Given the description of an element on the screen output the (x, y) to click on. 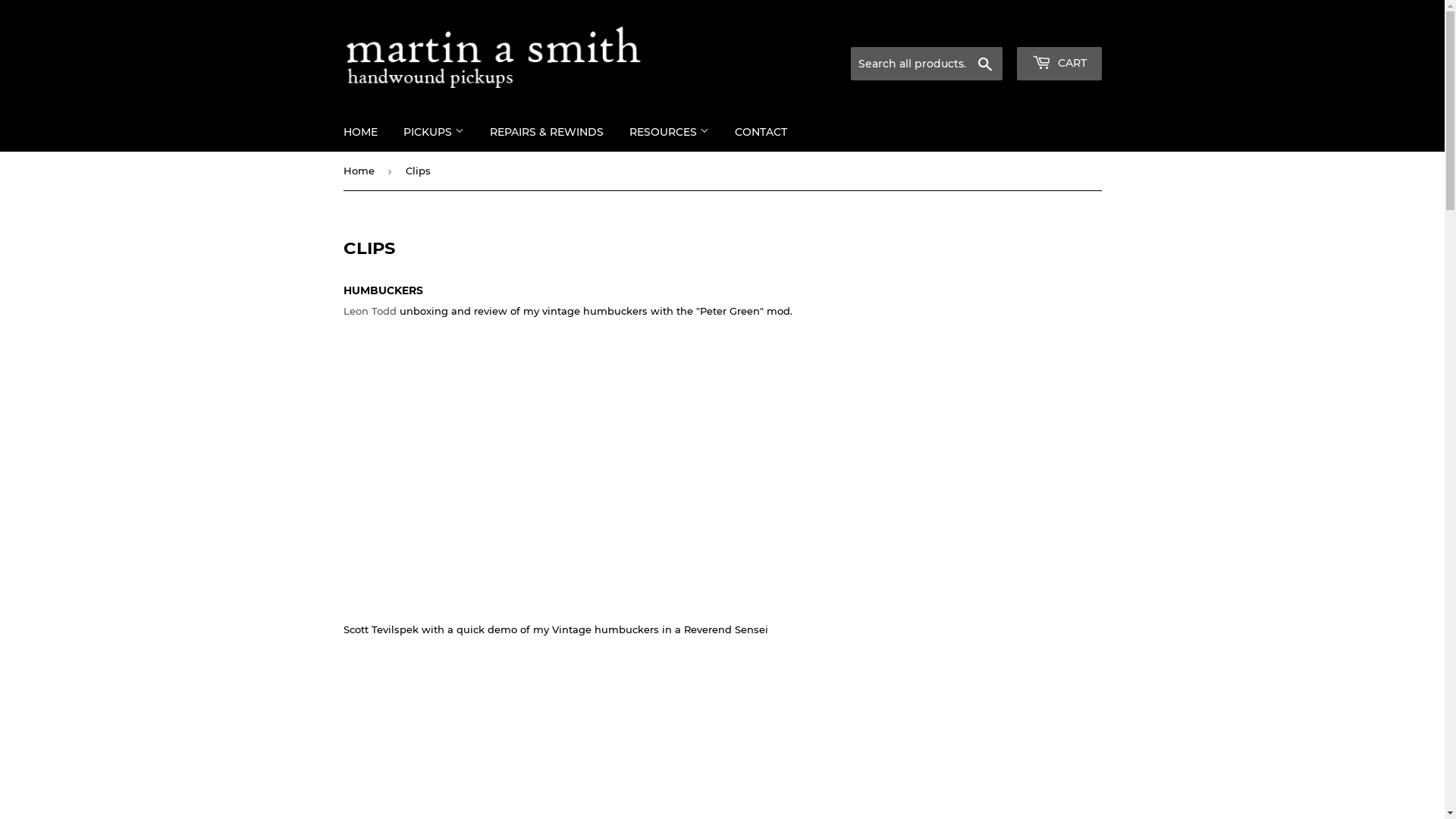
Home Element type: text (360, 170)
Leon Todd Element type: text (368, 310)
HOME Element type: text (360, 131)
RESOURCES Element type: text (668, 131)
CART Element type: text (1058, 63)
REPAIRS & REWINDS Element type: text (545, 131)
Search Element type: text (984, 64)
PICKUPS Element type: text (432, 131)
CONTACT Element type: text (760, 131)
